Given the description of an element on the screen output the (x, y) to click on. 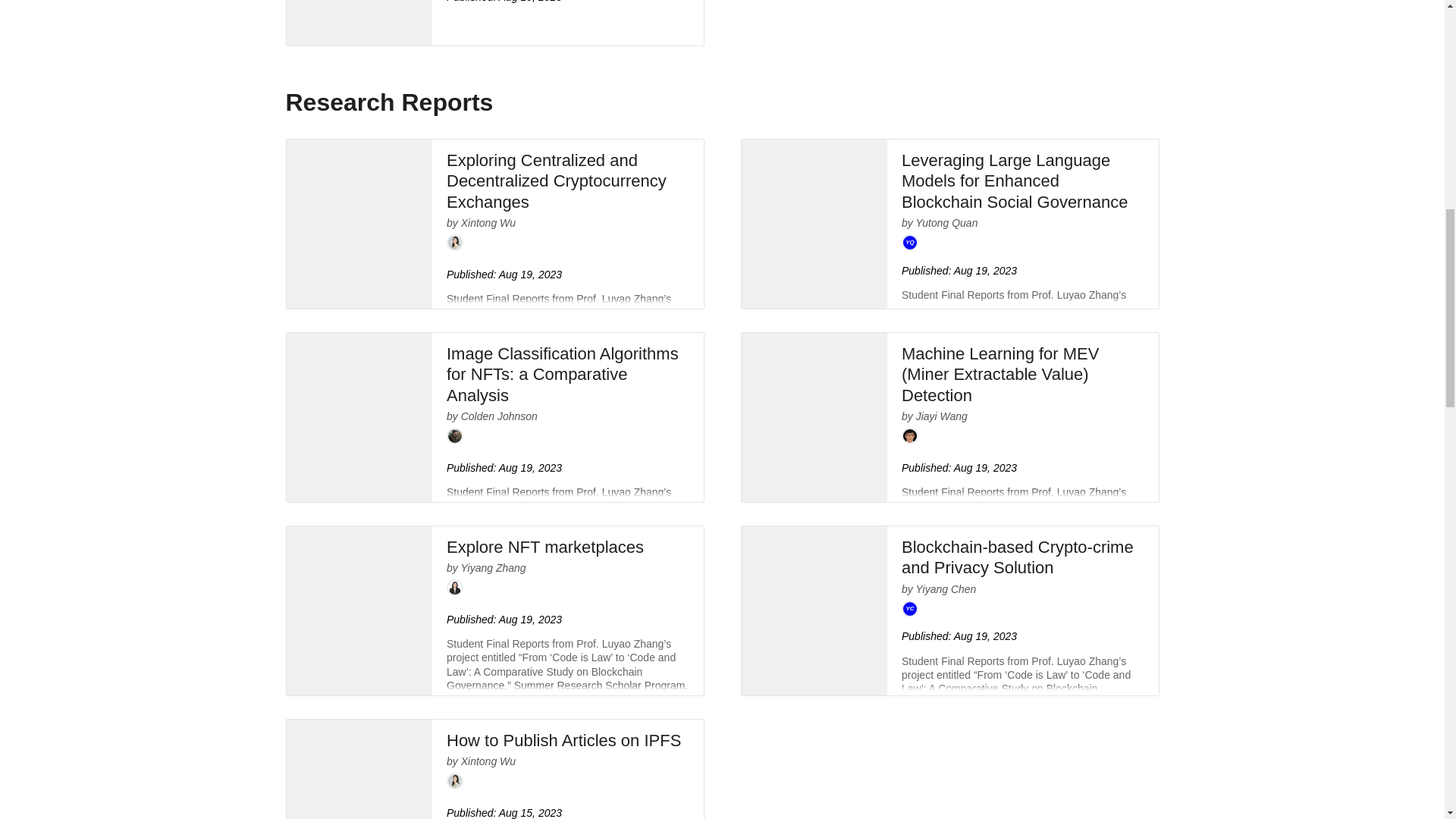
Blockchain-based Crypto-crime and Privacy Solution (1017, 559)
How to Publish Articles on IPFS (359, 769)
How to Publish Articles on IPFS (563, 742)
Explore NFT marketplaces (544, 548)
Explore NFT marketplaces (544, 548)
How to Publish Articles on IPFS (563, 742)
Blockchain-based Crypto-crime and Privacy Solution (1017, 559)
